Given the description of an element on the screen output the (x, y) to click on. 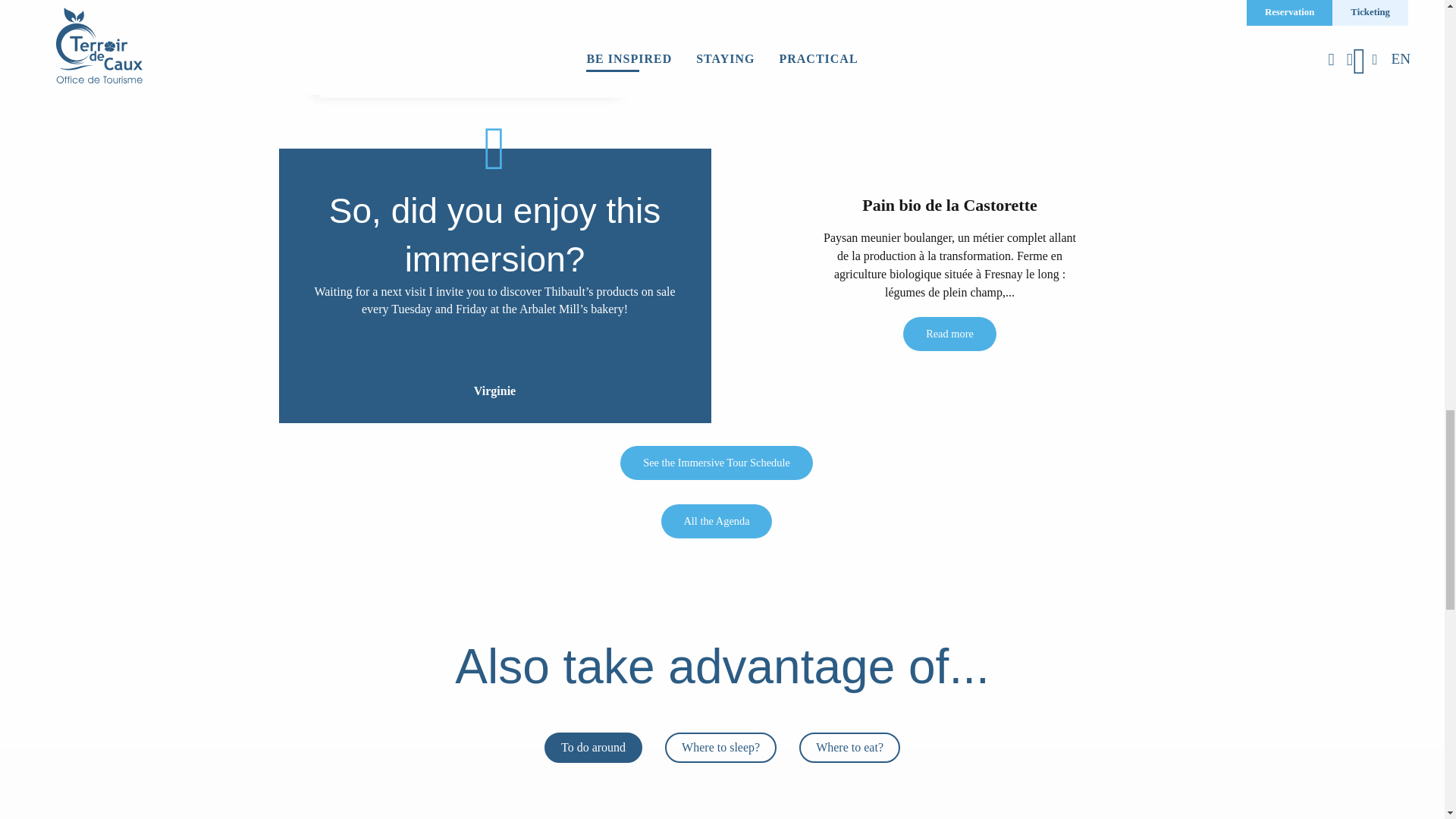
To do around (593, 747)
Where to sleep? (720, 747)
Where to eat? (849, 747)
See the Immersive Tour Schedule (716, 462)
All the Agenda (501, 809)
